Given the description of an element on the screen output the (x, y) to click on. 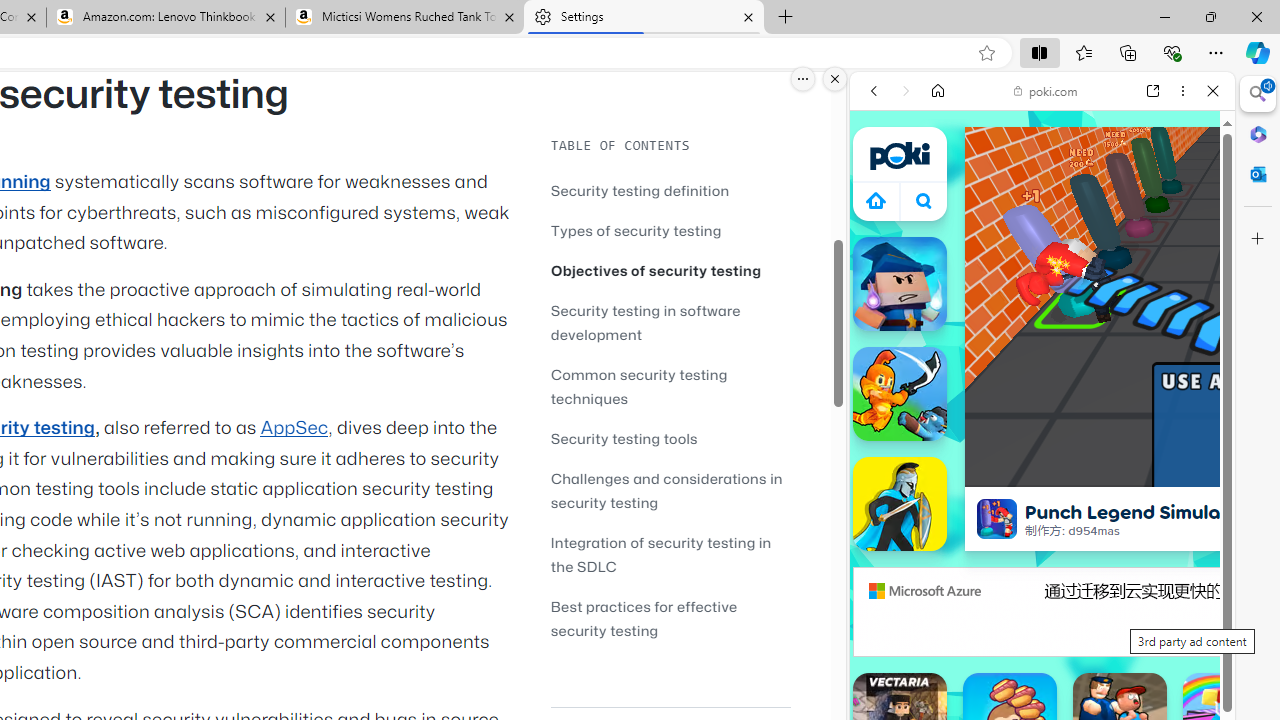
Types of security testing (635, 230)
AppSec (293, 428)
Security testing in software development (670, 322)
Car Games (1042, 469)
Security testing definition (670, 190)
Class: hvLtMSipvVng82x9Seuh (997, 519)
